Given the description of an element on the screen output the (x, y) to click on. 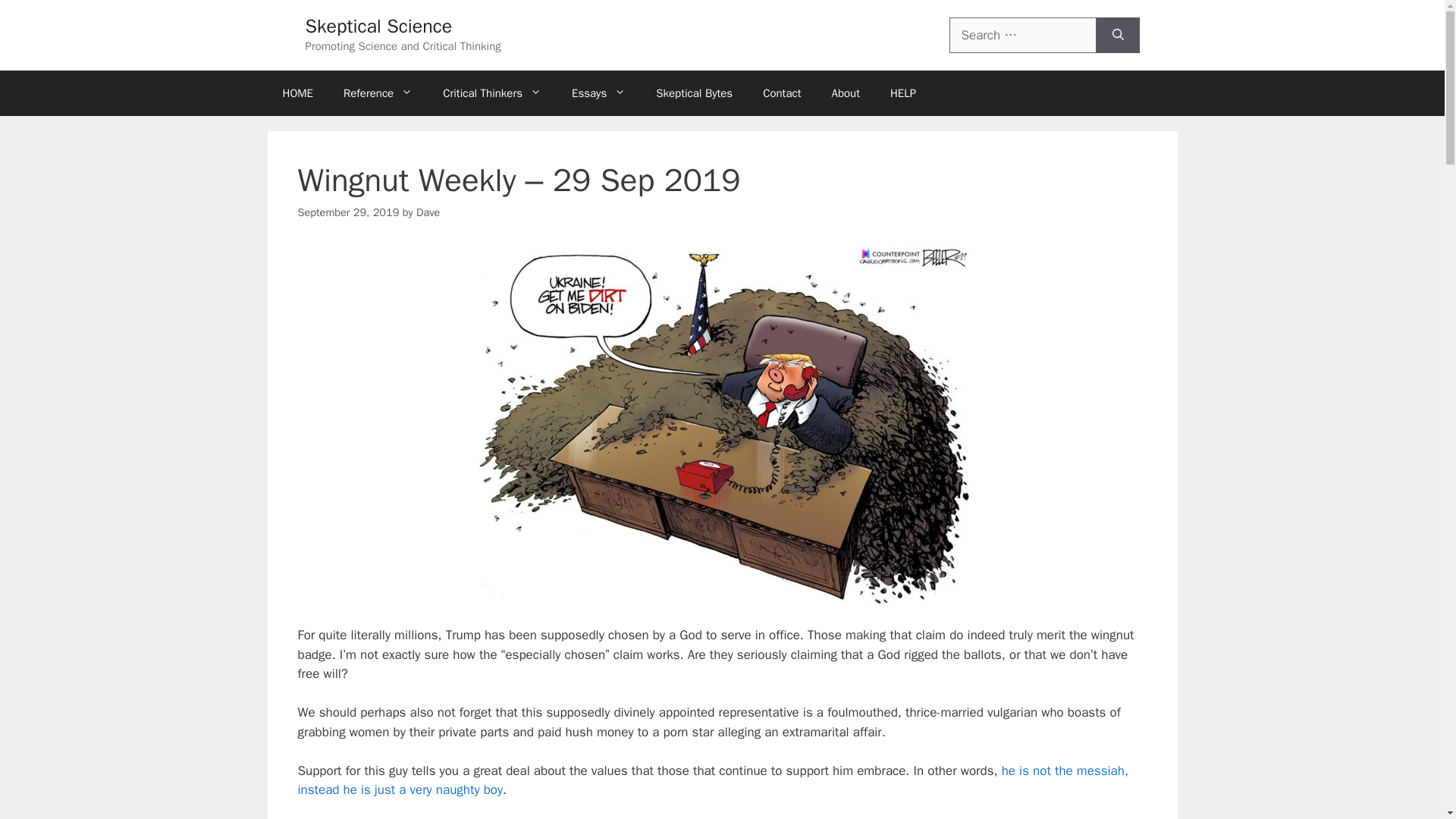
Reference (378, 92)
About (845, 92)
Search for: (1022, 34)
he is not the messiah, instead he is just a very naughty boy (712, 780)
HELP (903, 92)
Critical Thinkers (492, 92)
Dave (427, 212)
Essays (598, 92)
Skeptical Science (377, 25)
Skeptical Bytes (694, 92)
